Given the description of an element on the screen output the (x, y) to click on. 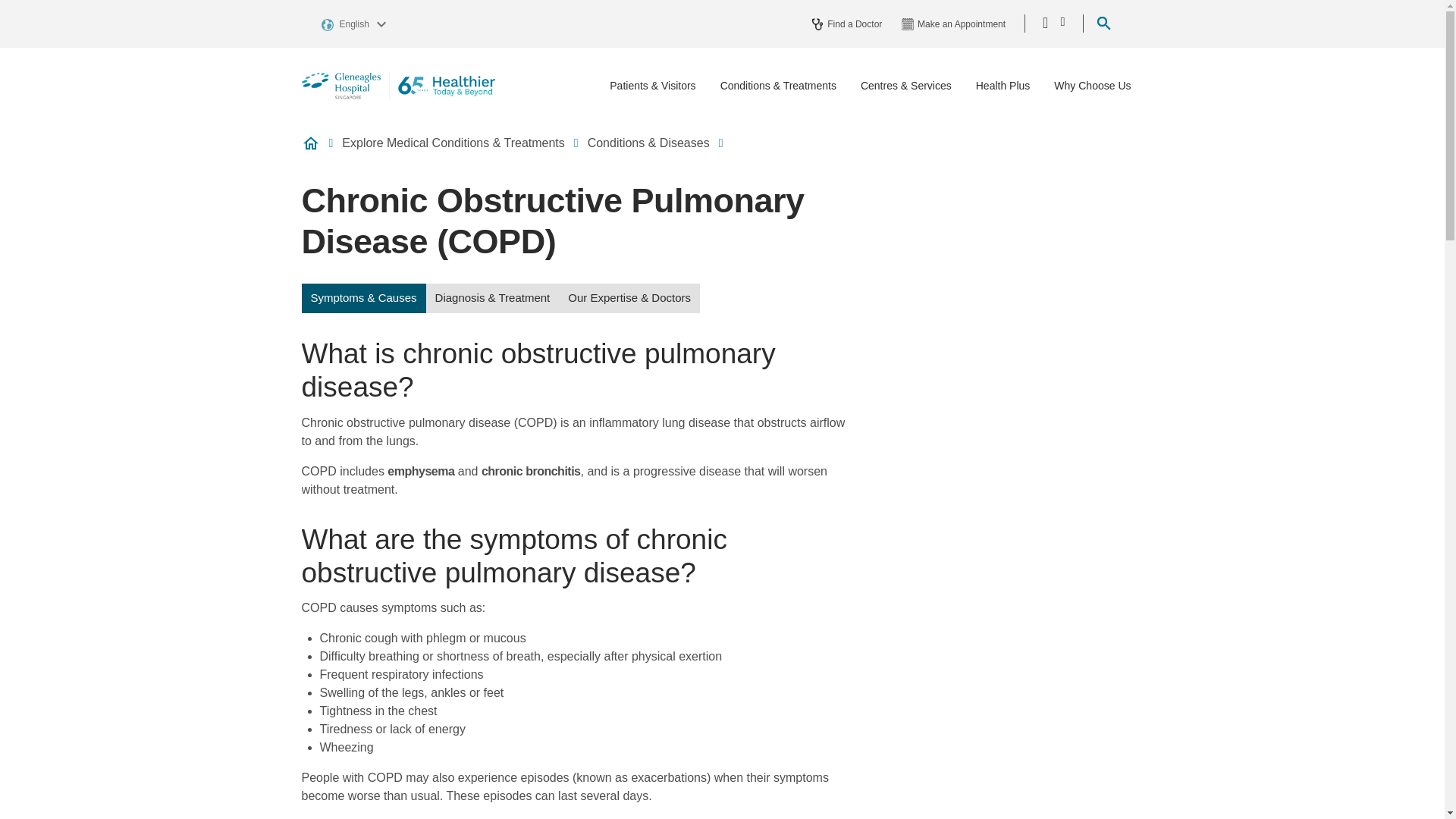
Health Plus (1002, 86)
English (355, 23)
Why Choose Us (1092, 86)
